Given the description of an element on the screen output the (x, y) to click on. 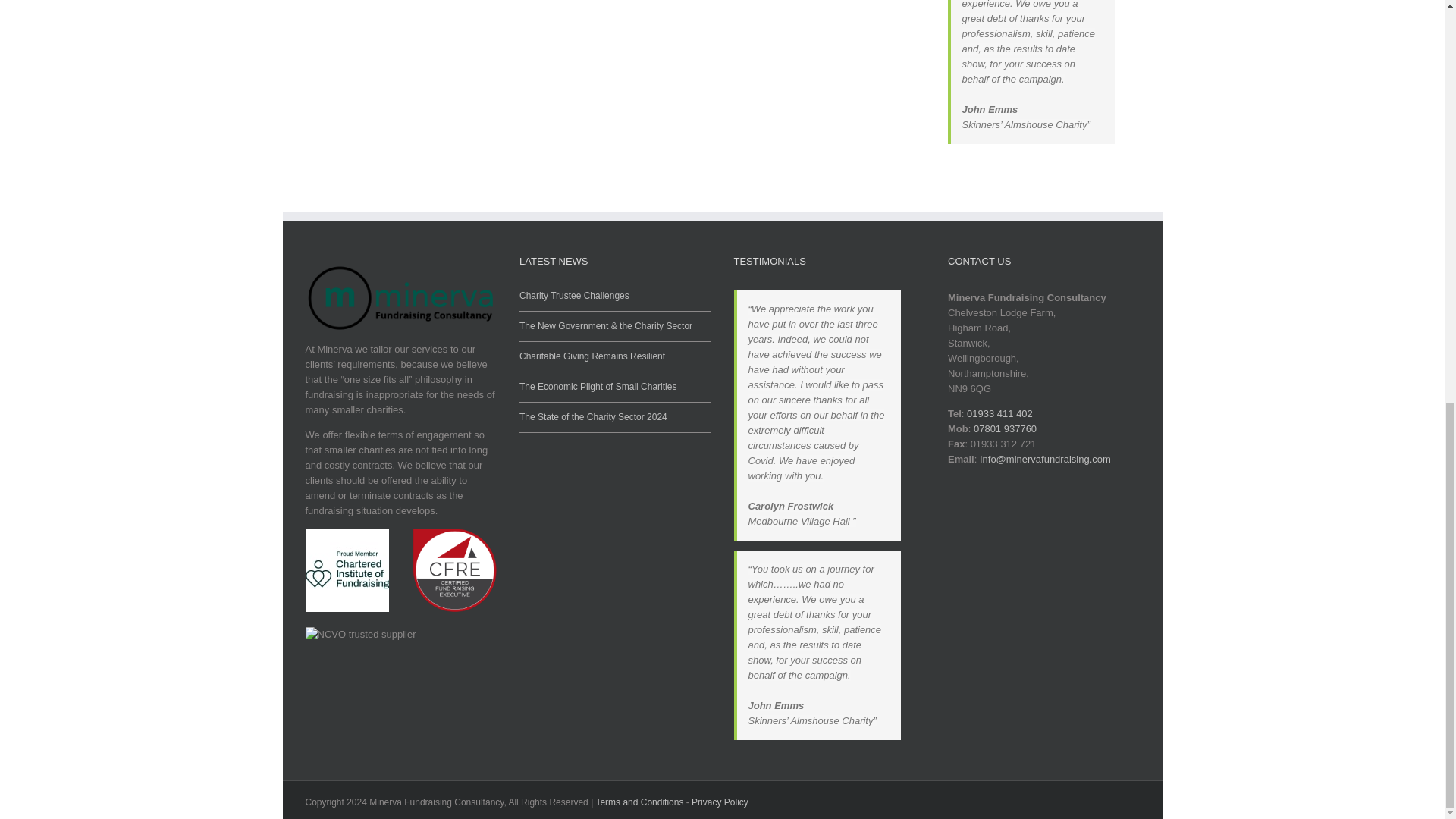
Charitable Giving Remains Resilient (615, 352)
The State of the Charity Sector 2024 (615, 412)
Terms and Conditions (638, 801)
01933 411 402 (999, 413)
Privacy Policy (719, 801)
Charity Trustee Challenges (615, 296)
The Economic Plight of Small Charities (615, 382)
07801 937760 (1005, 428)
